Given the description of an element on the screen output the (x, y) to click on. 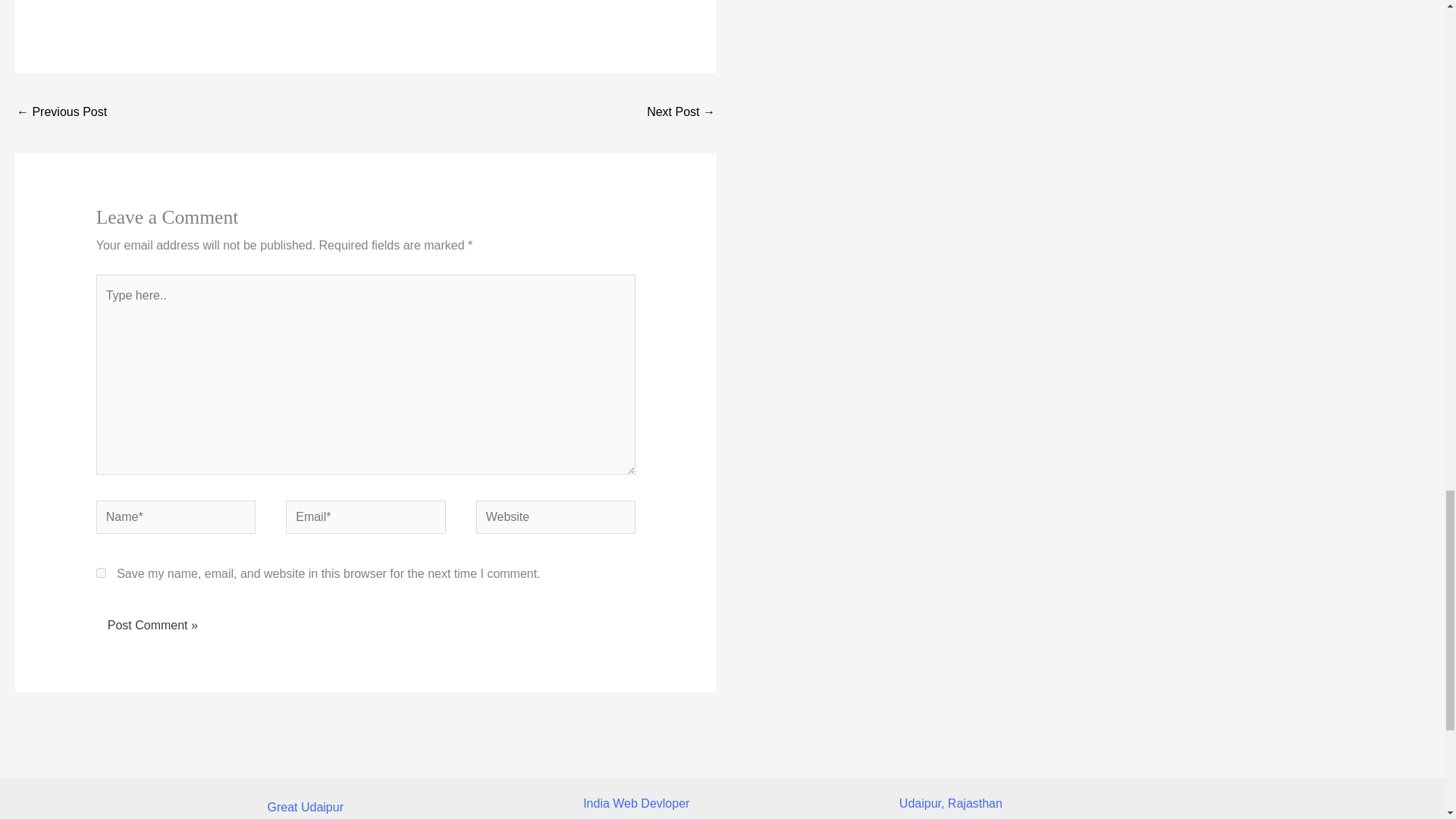
yes (101, 573)
Great Udaipur (304, 807)
Tanj Strength: The Gym Equipment Manufacturer in India (680, 113)
